Given the description of an element on the screen output the (x, y) to click on. 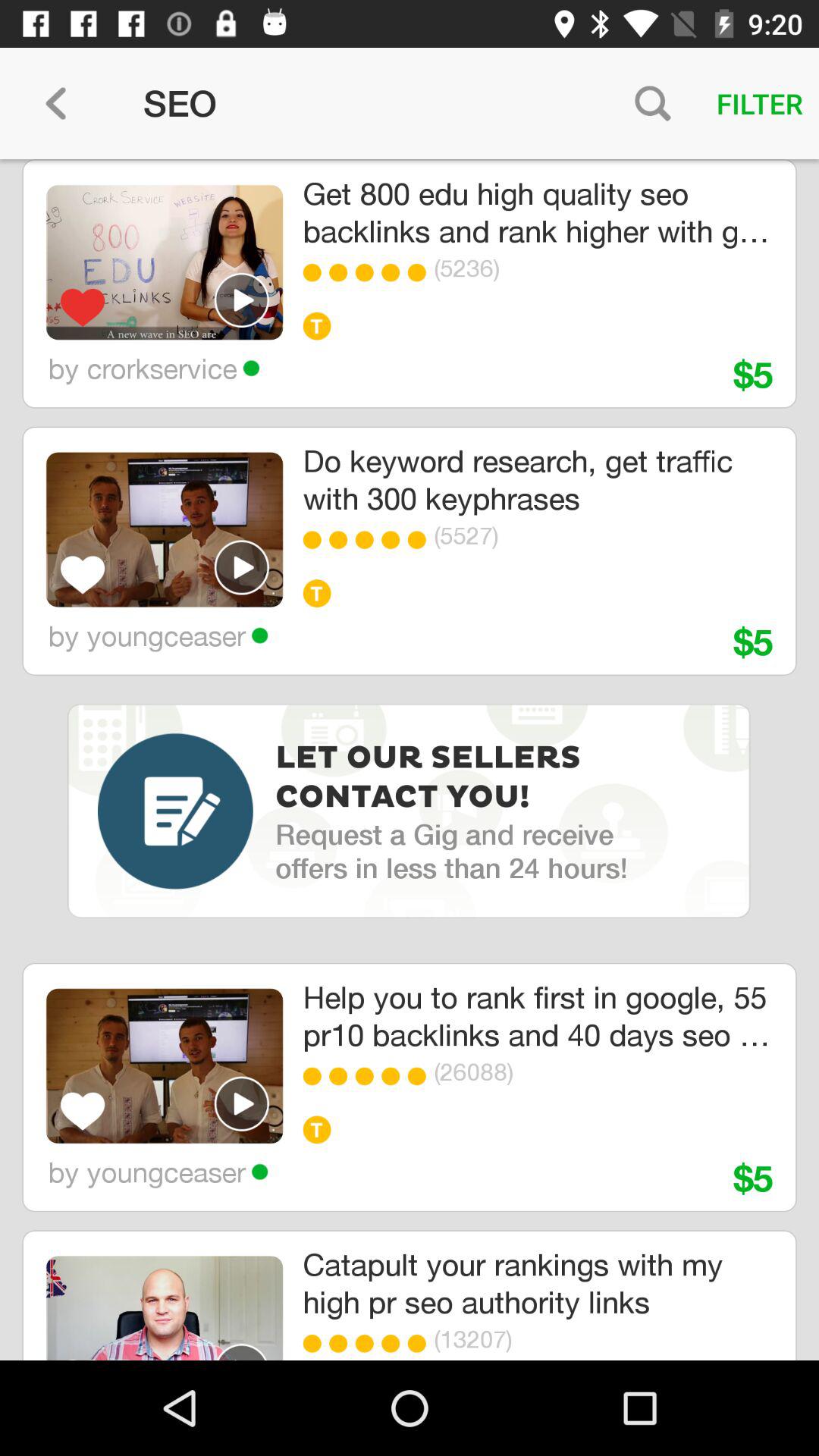
play video (242, 299)
